Given the description of an element on the screen output the (x, y) to click on. 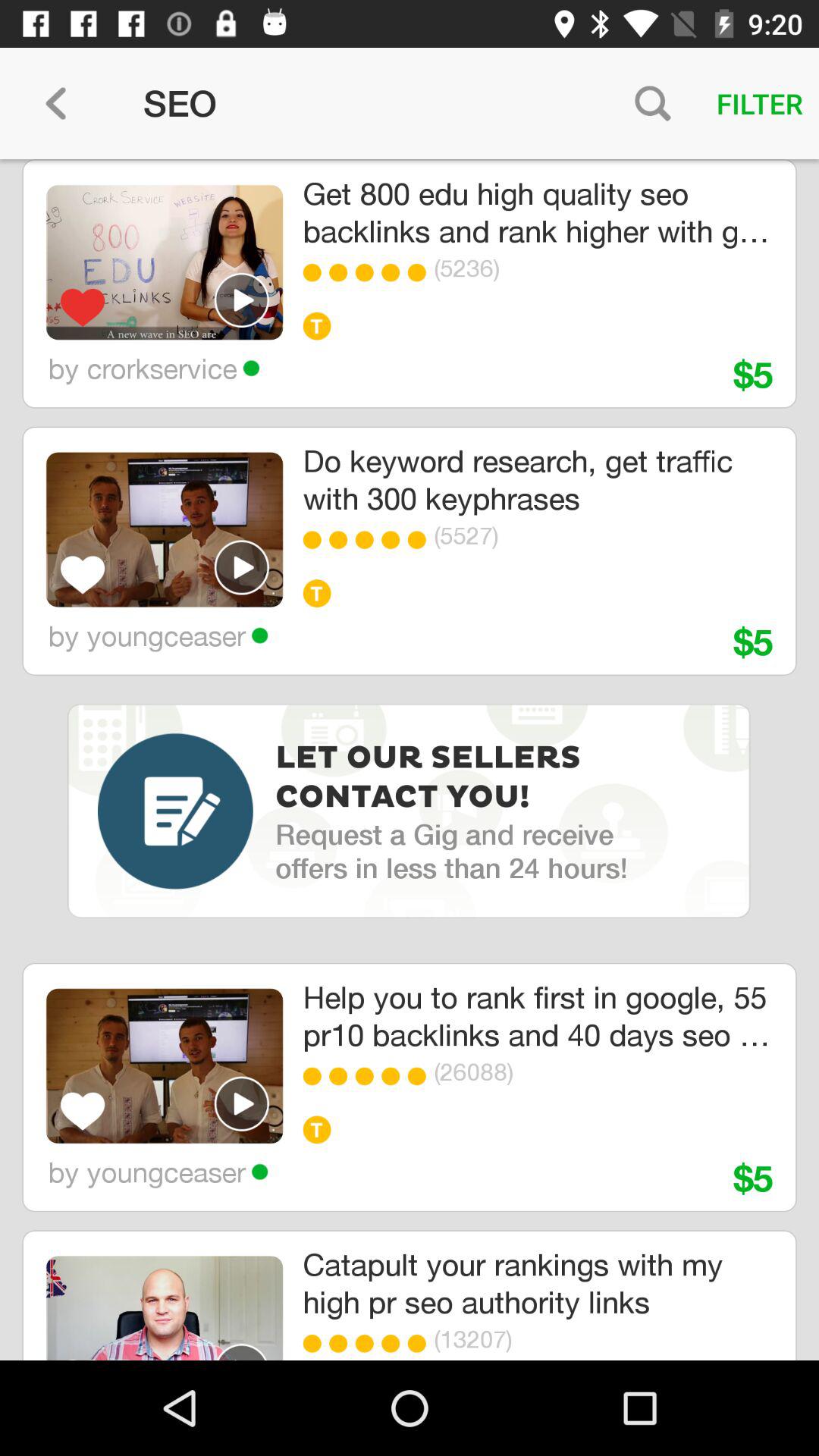
play video (242, 299)
